Given the description of an element on the screen output the (x, y) to click on. 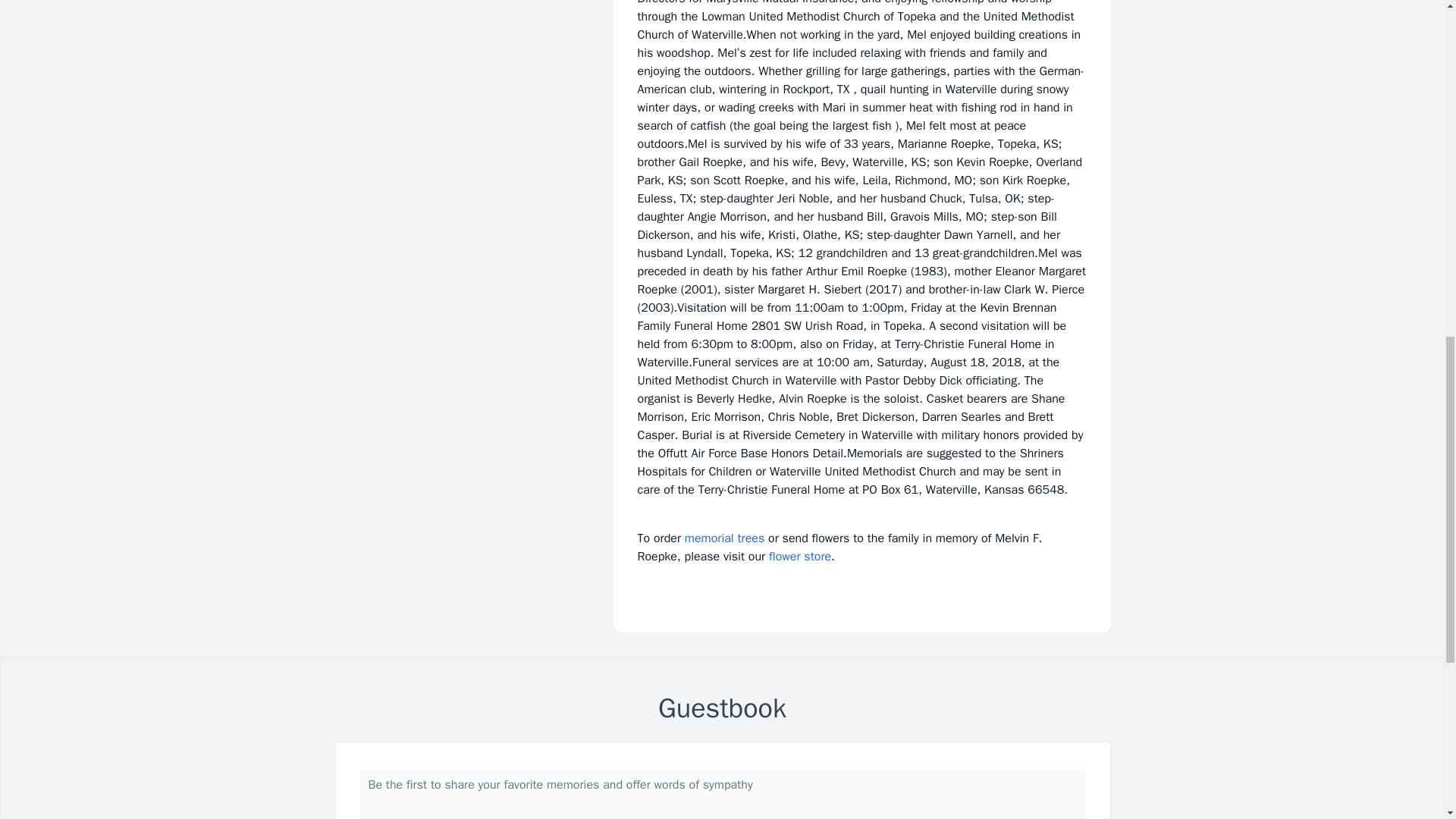
flower store (799, 556)
memorial trees (724, 538)
